Given the description of an element on the screen output the (x, y) to click on. 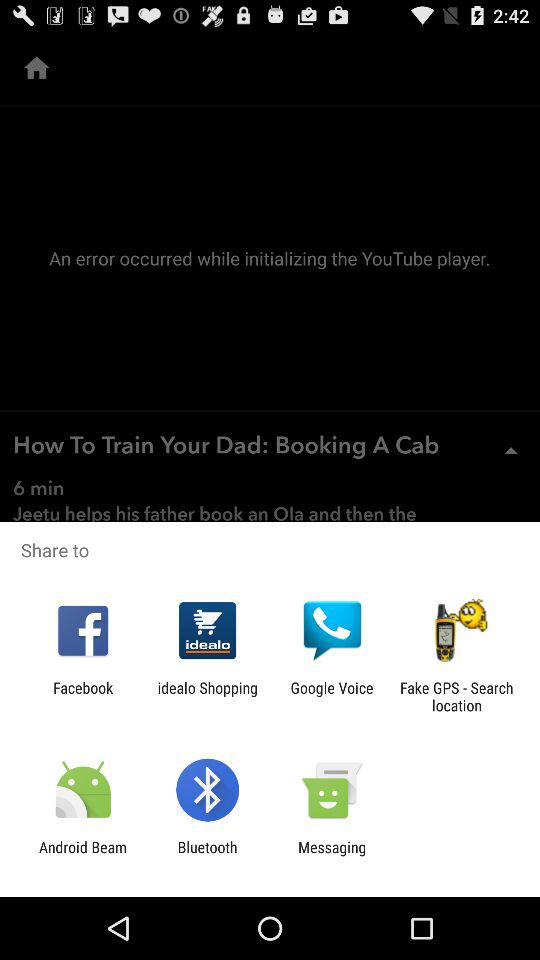
select app to the left of the bluetooth (83, 856)
